Given the description of an element on the screen output the (x, y) to click on. 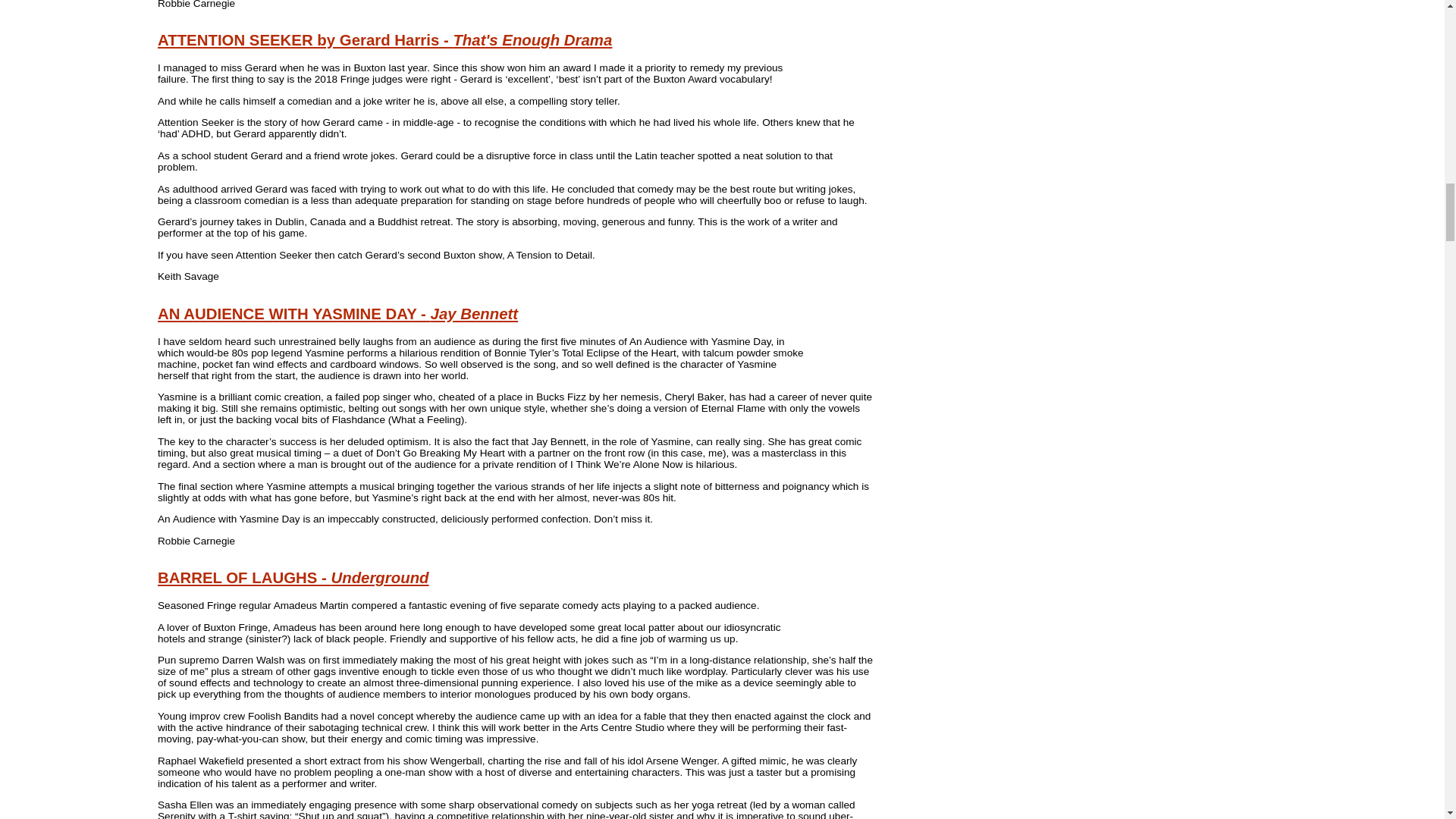
ATTENTION SEEKER by Gerard Harris - That's Enough Drama (384, 39)
BARREL OF LAUGHS - Underground (293, 577)
AN AUDIENCE WITH YASMINE DAY - Jay Bennett (337, 313)
